Given the description of an element on the screen output the (x, y) to click on. 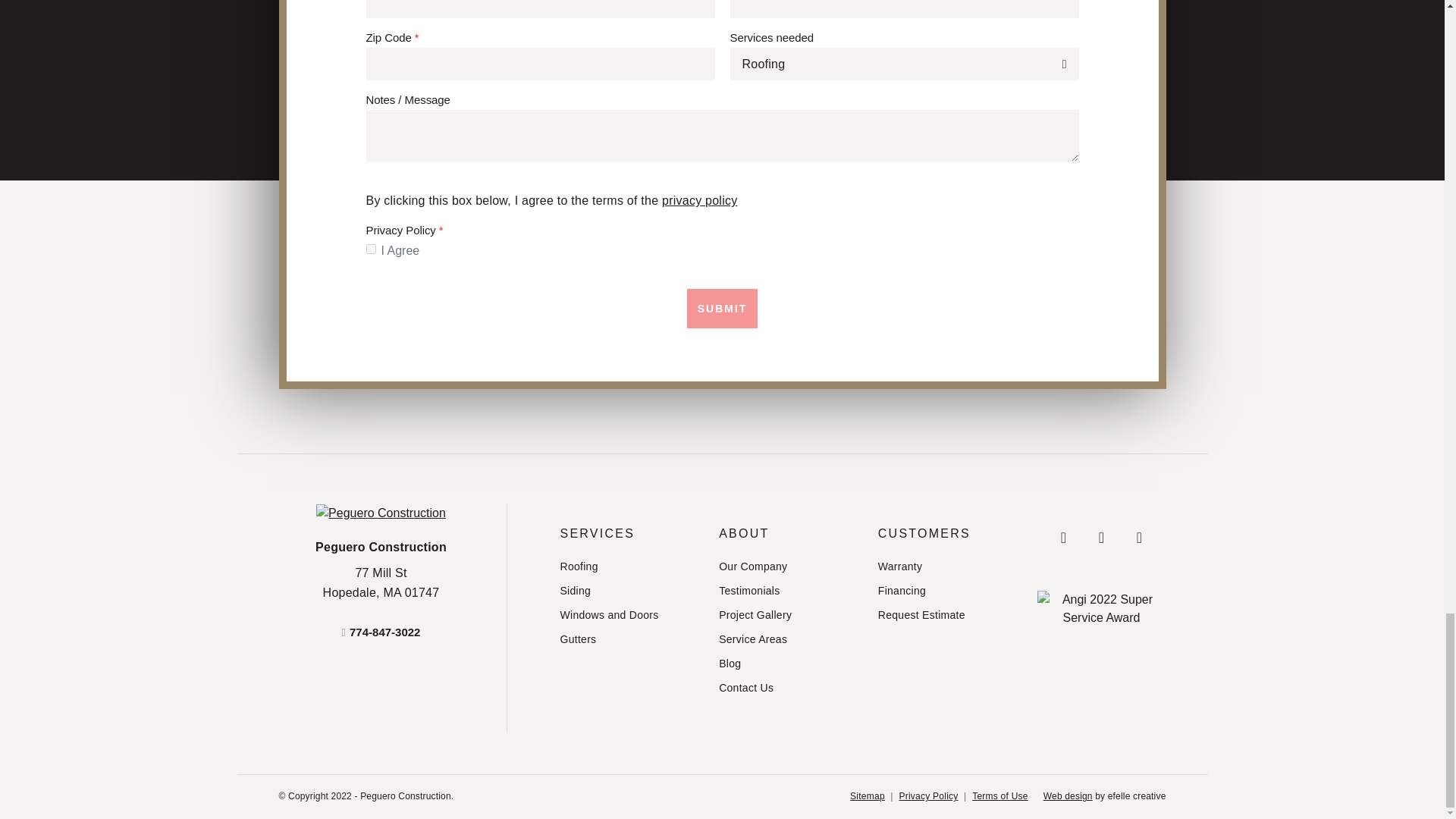
Seattle Web Design (1068, 796)
Siding (627, 590)
Gutters (627, 639)
Roofing (627, 566)
774-847-3022 (381, 631)
Windows and Doors (627, 614)
1 (370, 248)
SUBMIT (381, 582)
privacy policy (722, 308)
